Given the description of an element on the screen output the (x, y) to click on. 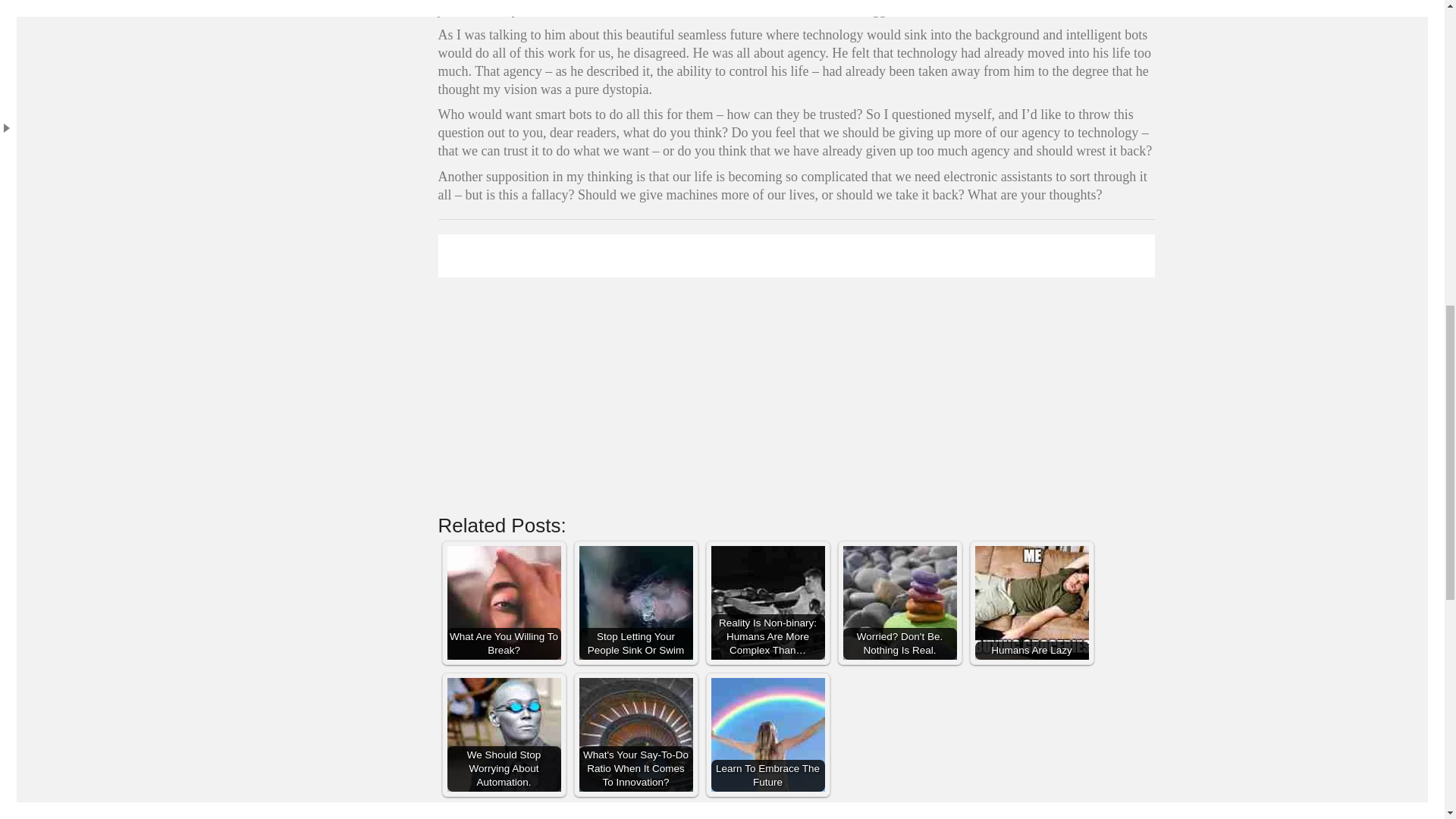
Humans Are Lazy (1032, 603)
Pinterest (814, 813)
What Are You Willing To Break? (503, 603)
Copy Link (850, 813)
What's Your Say-To-Do Ratio When It Comes To Innovation? (636, 734)
Learn To Embrace The Future (768, 734)
LinkedIn (778, 813)
We Should Stop Worrying About Automation. (503, 734)
Facebook (741, 813)
Email This (887, 813)
Worried? Don't Be. Nothing Is Real. (899, 603)
Form 1 (796, 370)
Stop Letting Your People Sink Or Swim (636, 603)
